Given the description of an element on the screen output the (x, y) to click on. 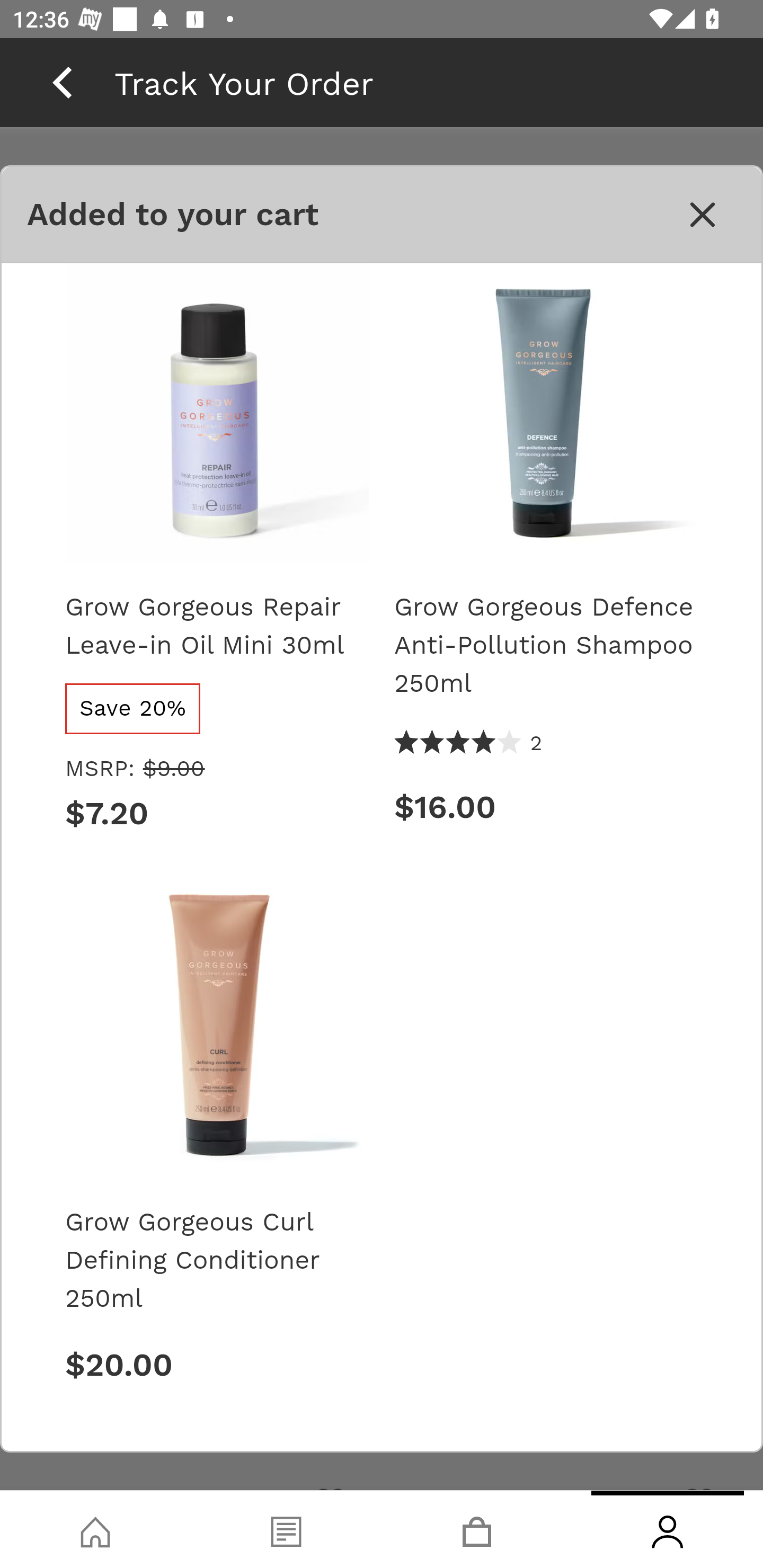
back (61, 82)
Close (702, 214)
Grow Gorgeous Repair Leave-in Oil Mini 30ml (216, 625)
Grow Gorgeous Defence Anti-Pollution Shampoo 250ml (546, 644)
Save 20% (133, 707)
Grow Gorgeous Curl Defining Conditioner 250ml (216, 1258)
Shop, tab, 1 of 4 (95, 1529)
Blog, tab, 2 of 4 (285, 1529)
Basket, tab, 3 of 4 (476, 1529)
Account, tab, 4 of 4 (667, 1529)
